Given the description of an element on the screen output the (x, y) to click on. 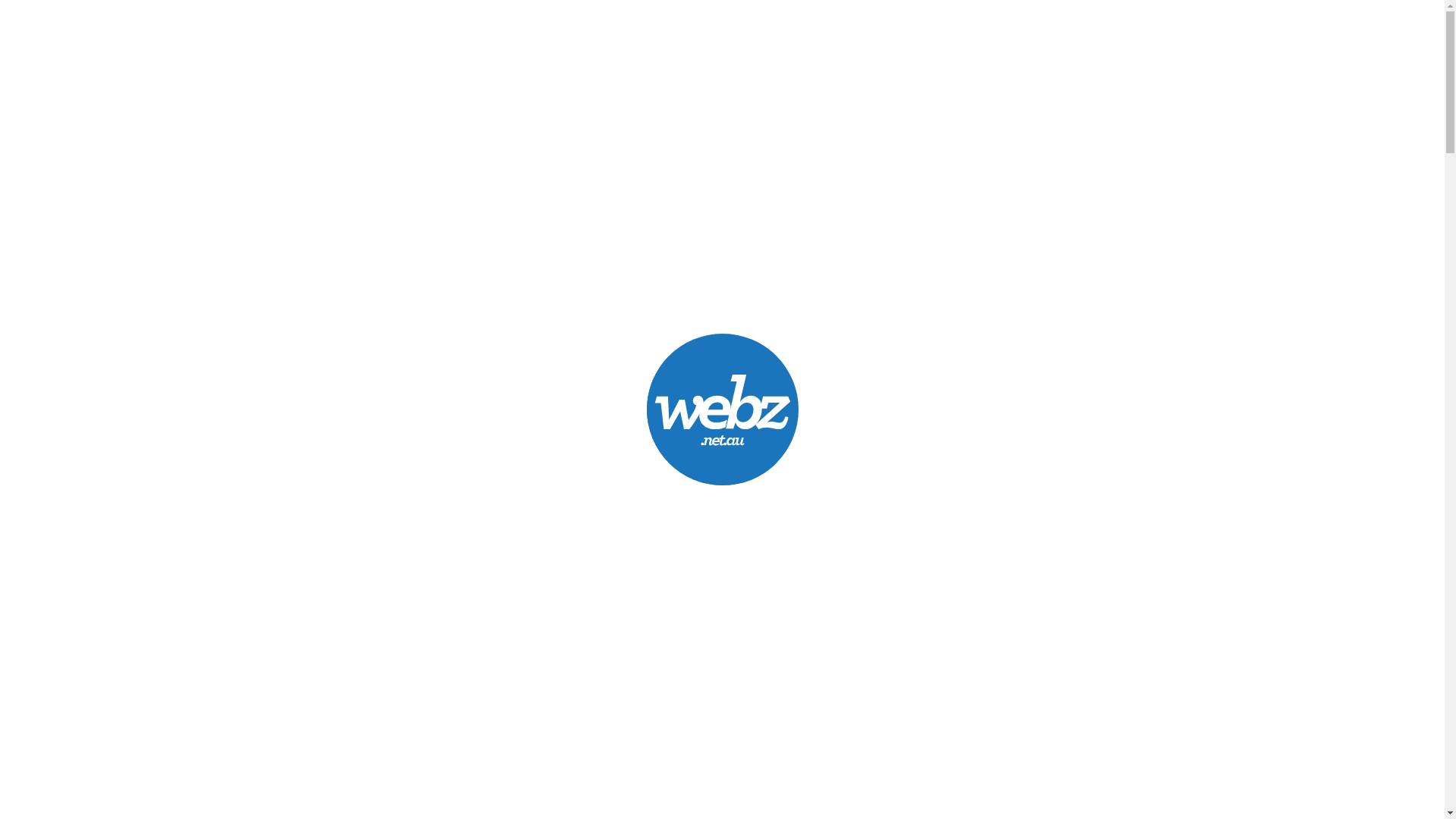
What can we do for you Element type: text (721, 526)
See what we do Element type: text (722, 285)
Meet the team Element type: text (722, 766)
